Given the description of an element on the screen output the (x, y) to click on. 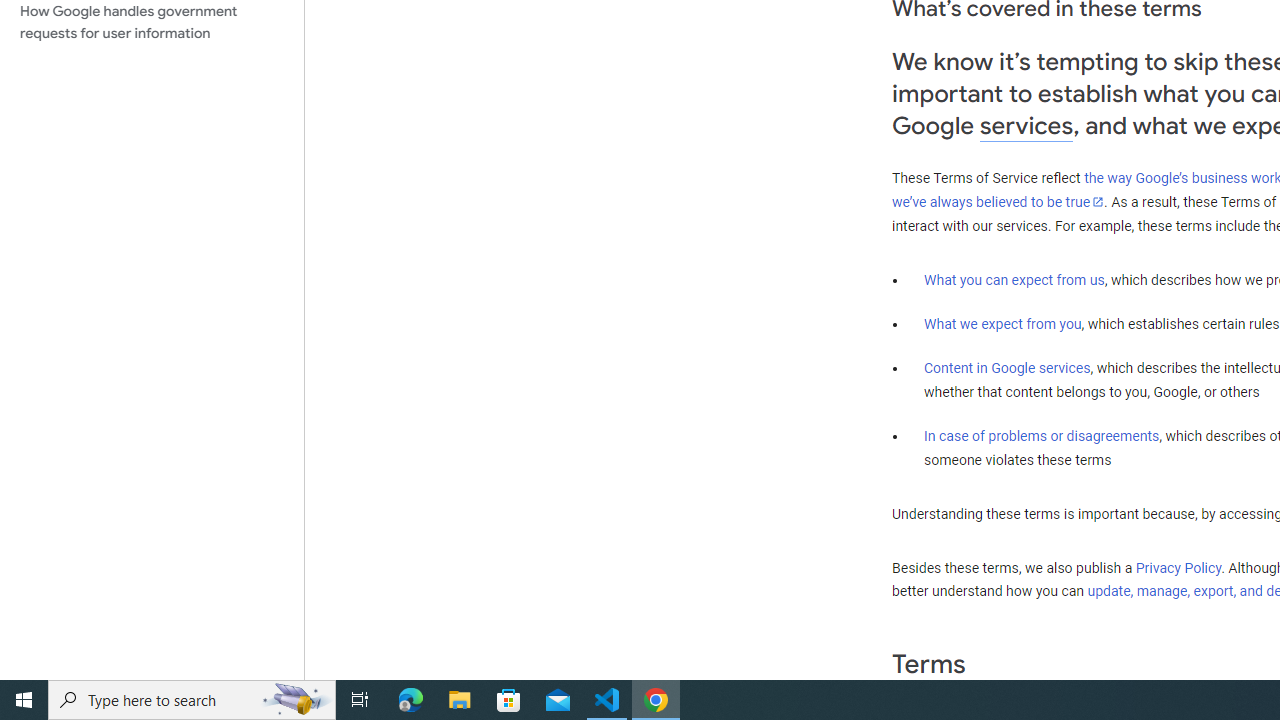
In case of problems or disagreements (1041, 435)
Content in Google services (1007, 368)
What you can expect from us (1014, 279)
Privacy Policy (1178, 567)
services (1026, 125)
What we expect from you (1002, 323)
